Given the description of an element on the screen output the (x, y) to click on. 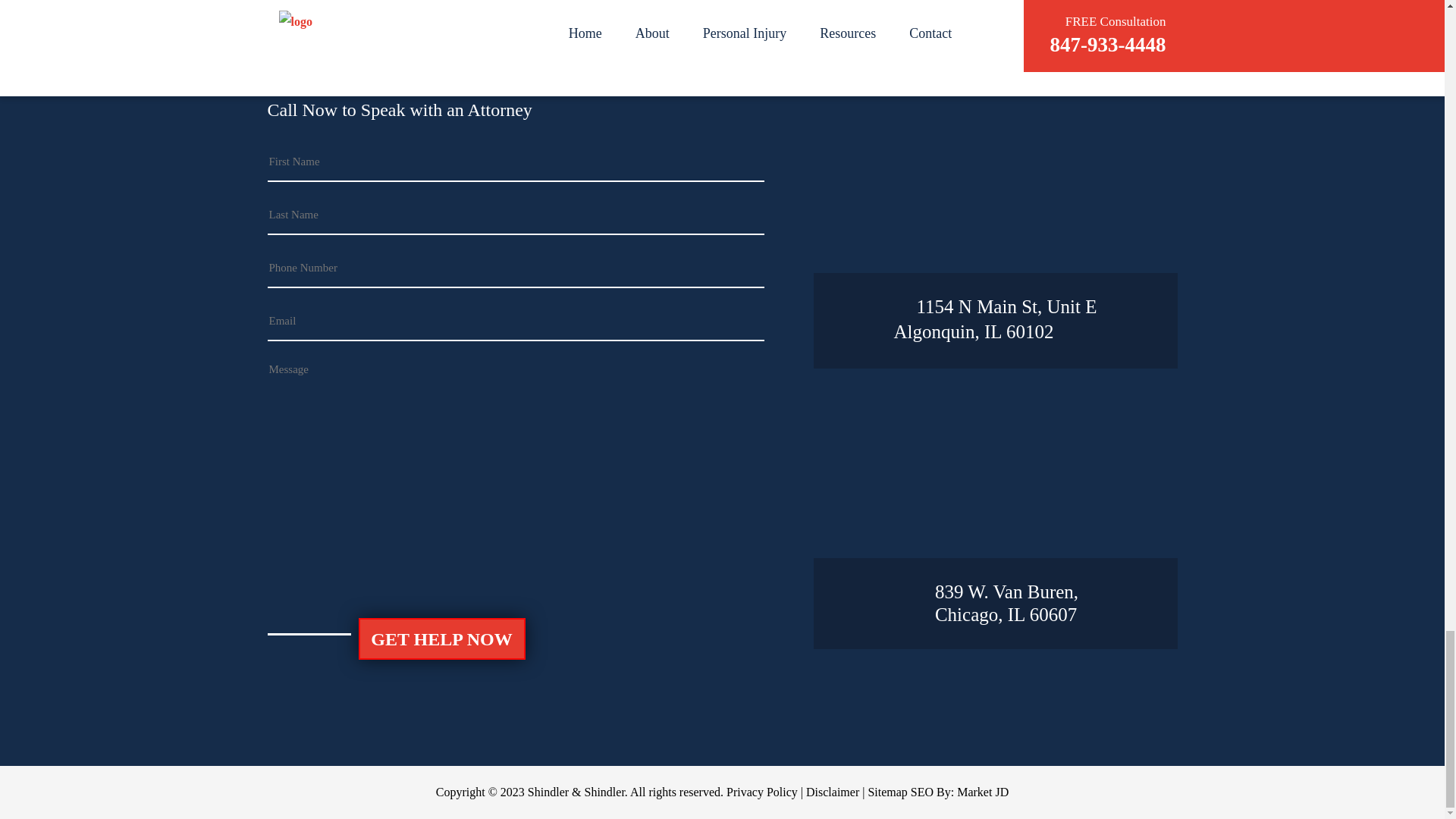
Get Help Now (441, 639)
Get Help Now (995, 320)
847-933-4448 (441, 639)
Privacy Policy (995, 45)
